Given the description of an element on the screen output the (x, y) to click on. 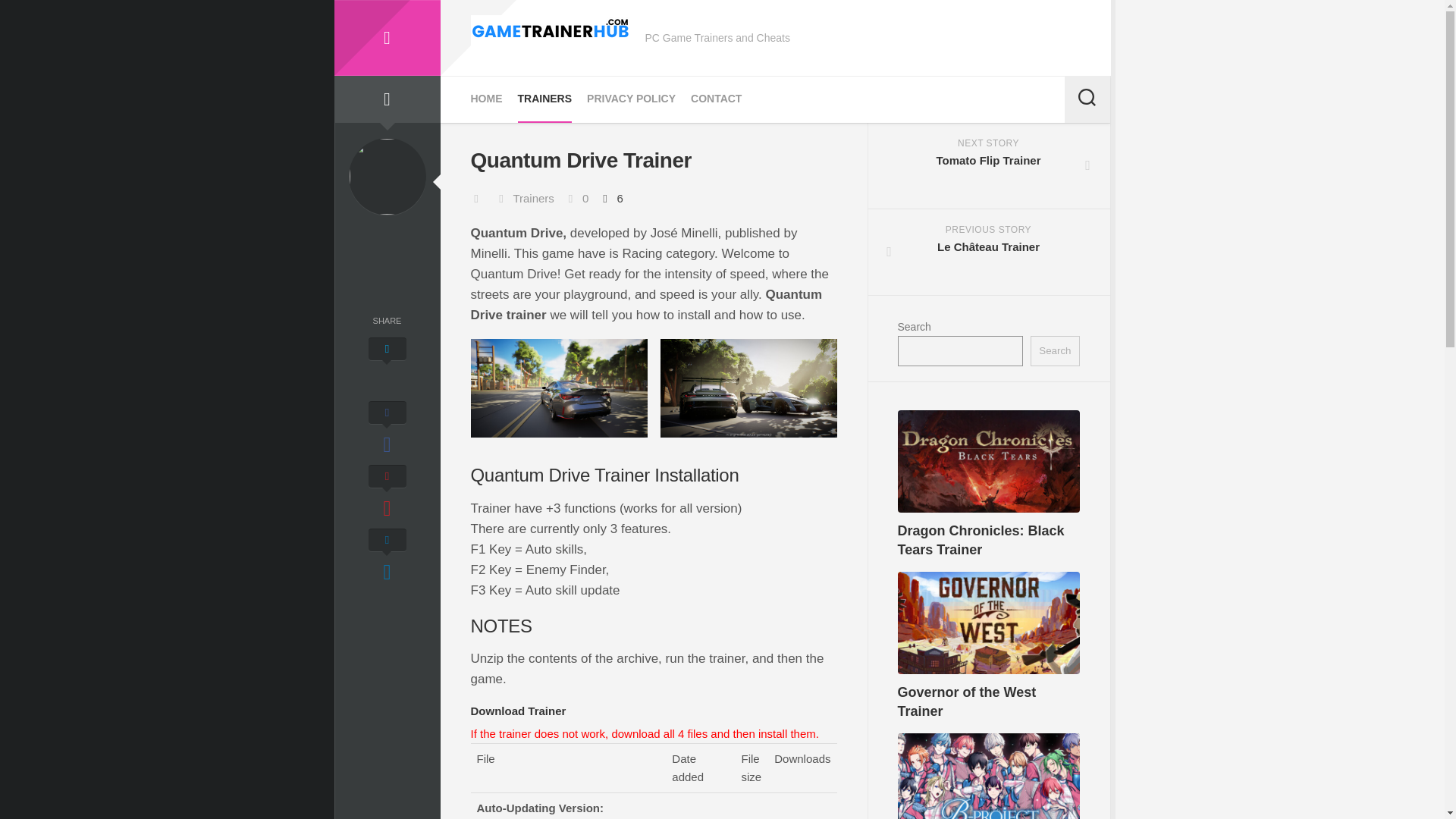
Trainers (532, 197)
Search (1054, 350)
Dragon Chronicles: Black Tears Trainer (981, 540)
TRAINERS (544, 98)
HOME (988, 165)
PRIVACY POLICY (486, 98)
Game Trainer Hub (630, 98)
CONTACT (386, 38)
